Given the description of an element on the screen output the (x, y) to click on. 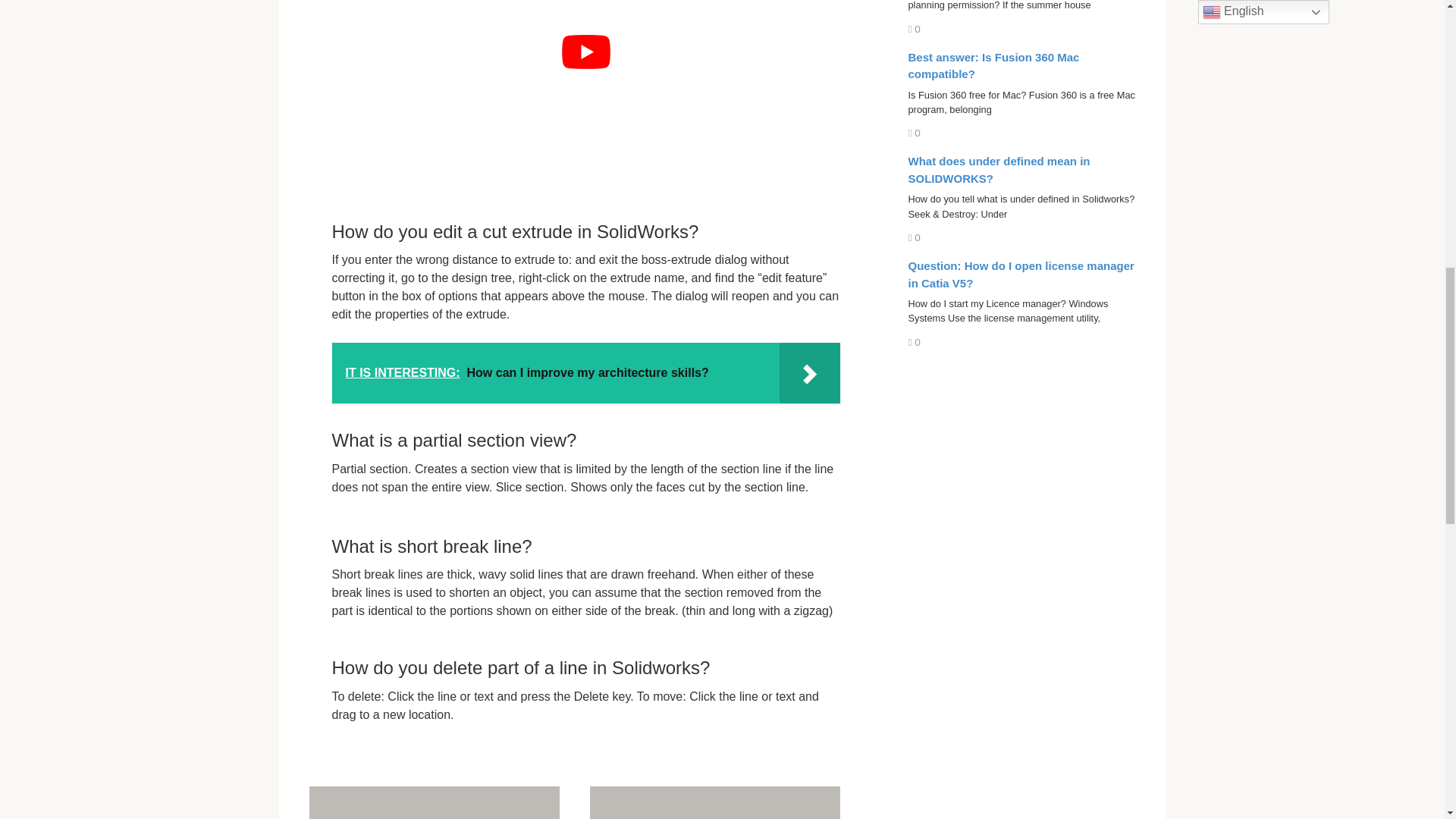
Comments (714, 802)
Comments (914, 132)
What does under defined mean in SOLIDWORKS? (914, 29)
Comments (999, 169)
Best answer: Is Fusion 360 Mac compatible? (914, 237)
Comments (994, 65)
Question: How do I open license manager in Catia V5? (433, 802)
